Given the description of an element on the screen output the (x, y) to click on. 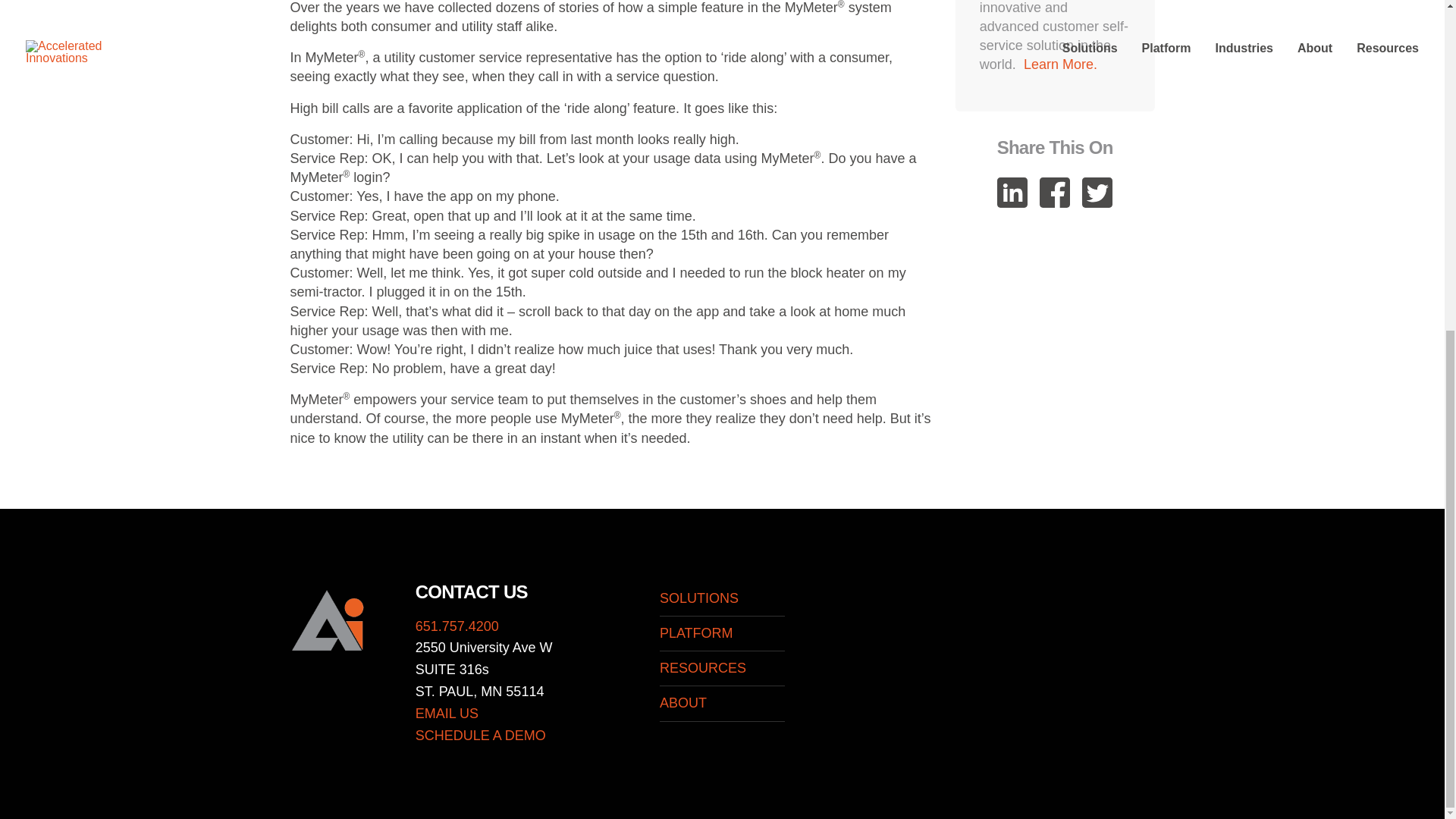
651.757.4200 (456, 626)
Facebook (1054, 192)
LinkedIn (1012, 192)
Learn More. (1060, 64)
EMAIL US (446, 713)
Twitter (1096, 192)
